Given the description of an element on the screen output the (x, y) to click on. 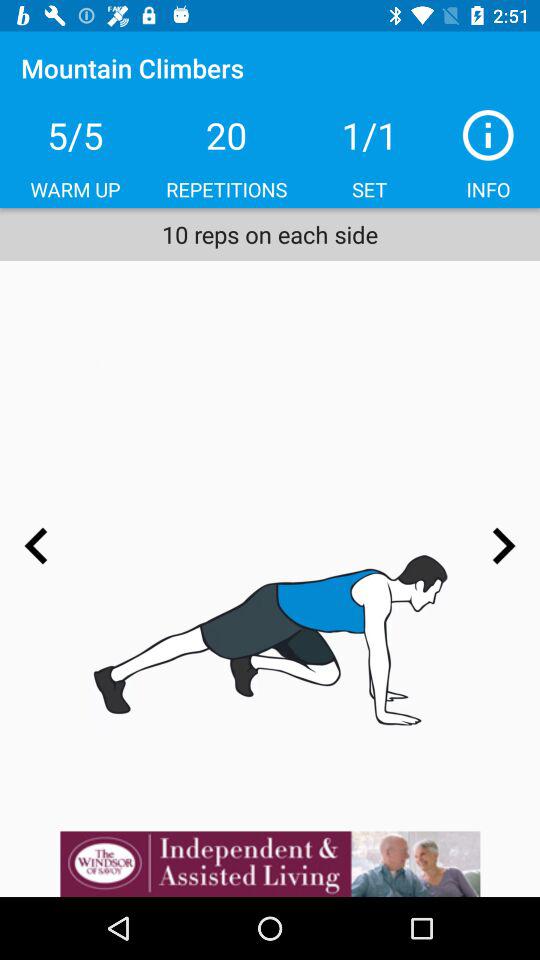
go to previous step (36, 545)
